Given the description of an element on the screen output the (x, y) to click on. 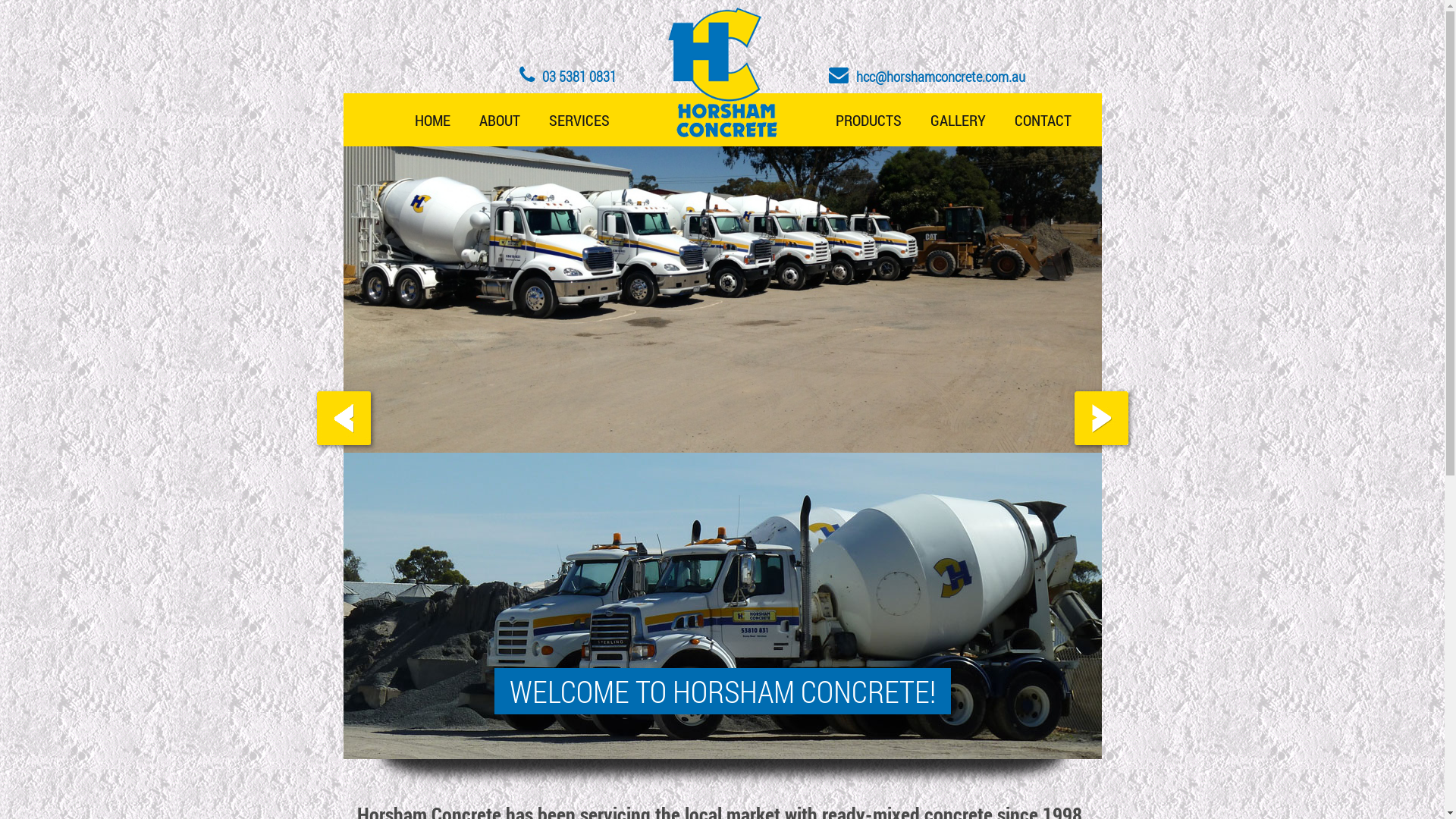
hcc@horshamconcrete.com.au Element type: text (926, 75)
CONTACT Element type: text (1042, 119)
HOME Element type: text (432, 119)
PRODUCTS Element type: text (867, 119)
GALLERY Element type: text (958, 119)
SERVICES Element type: text (578, 119)
ABOUT Element type: text (498, 119)
03 5381 0831 Element type: text (566, 75)
